Given the description of an element on the screen output the (x, y) to click on. 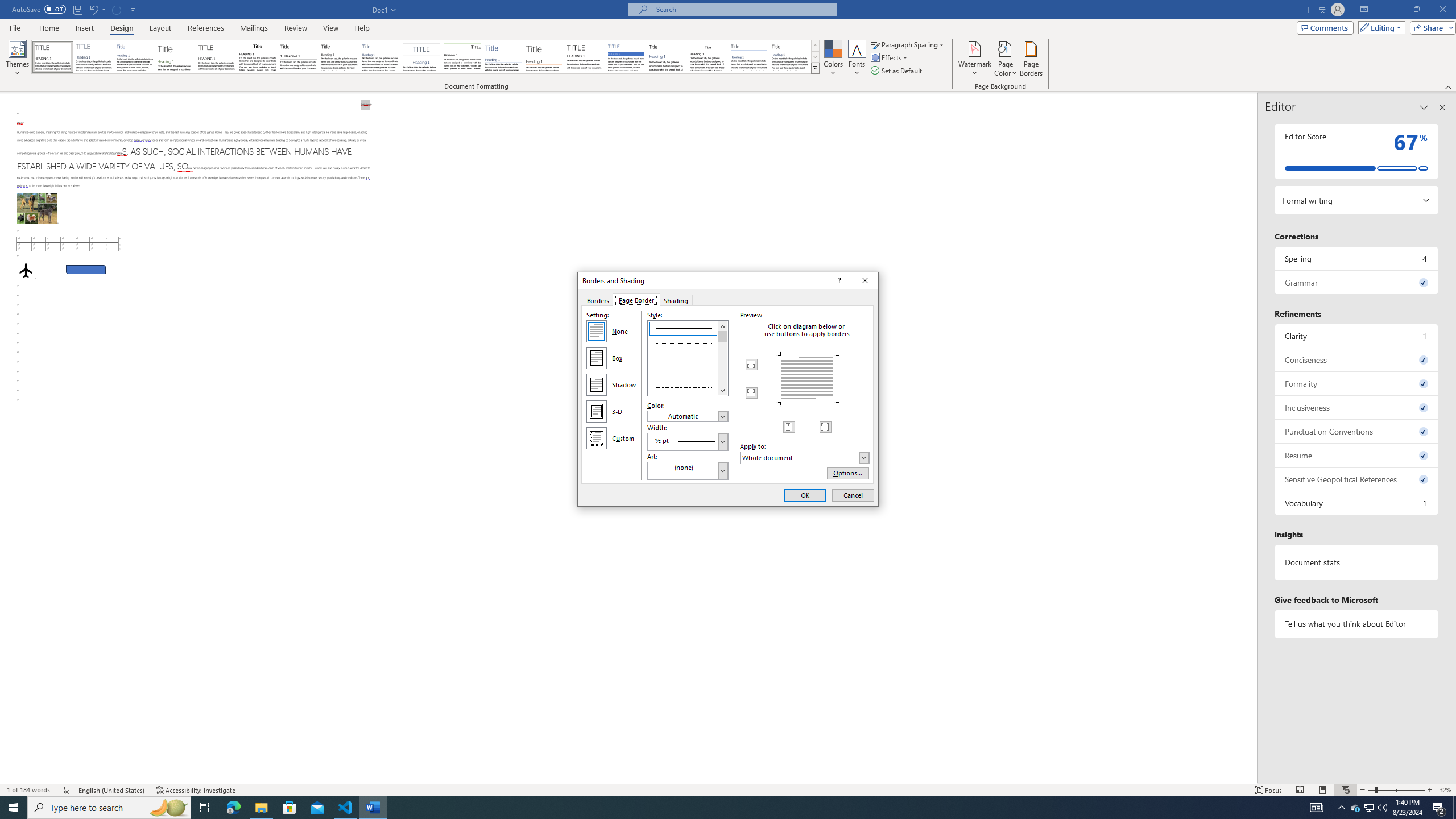
Search highlights icon opens search home window (167, 807)
Lines (Stylish) (544, 56)
MSO Generic Control Container (751, 364)
Start (13, 807)
Row up (814, 45)
Line up (722, 325)
Formality, 0 issues. Press space or enter to review items. (1356, 383)
Dashed (small gap) (687, 356)
Zoom 32% (1355, 807)
Word 2003 (1445, 790)
Undo Paragraph Alignment (707, 56)
